Given the description of an element on the screen output the (x, y) to click on. 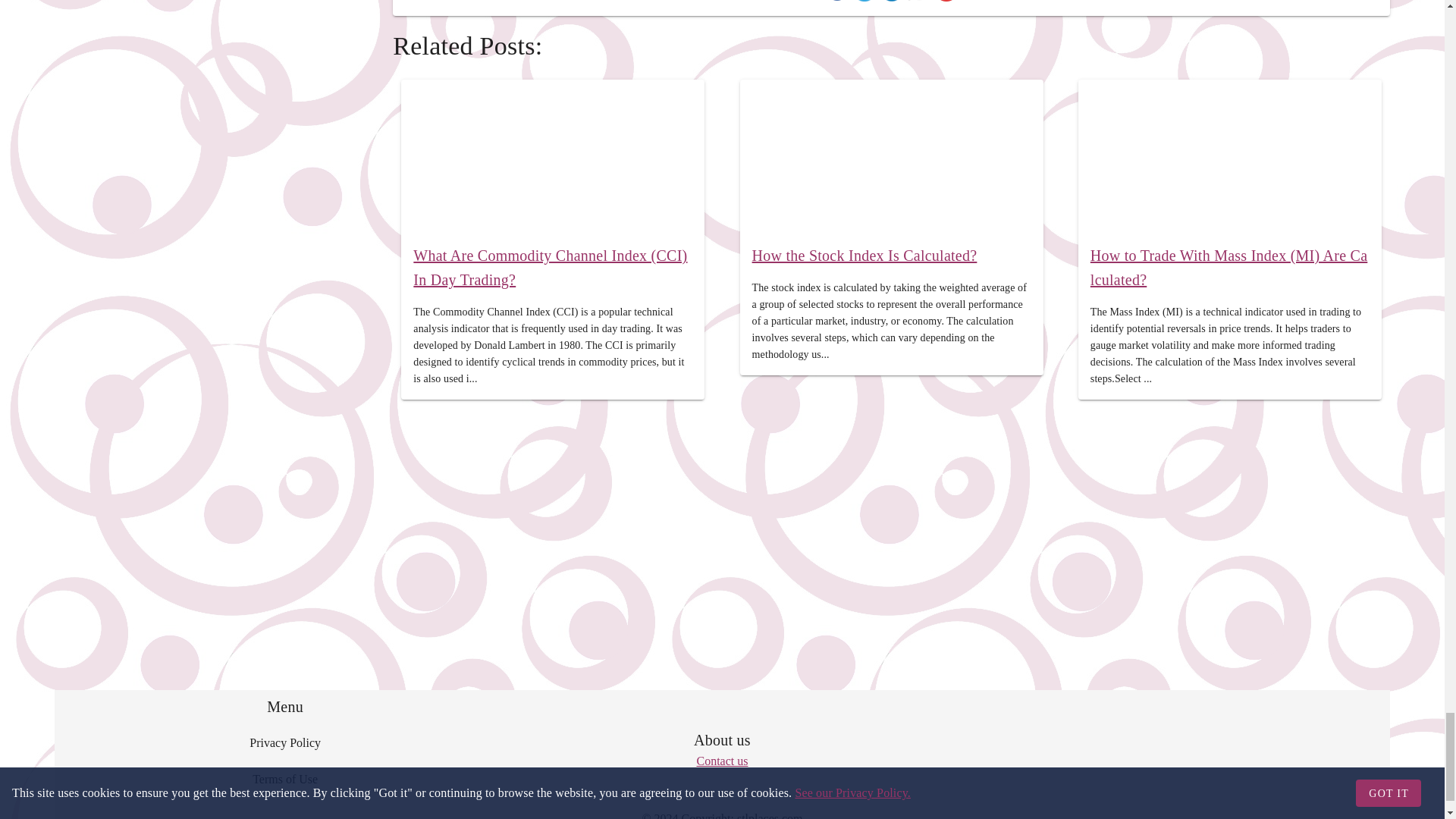
LinkedIn (891, 3)
Twitter (863, 3)
Pocket (946, 3)
Whatsapp (919, 3)
Facebook (836, 3)
